Given the description of an element on the screen output the (x, y) to click on. 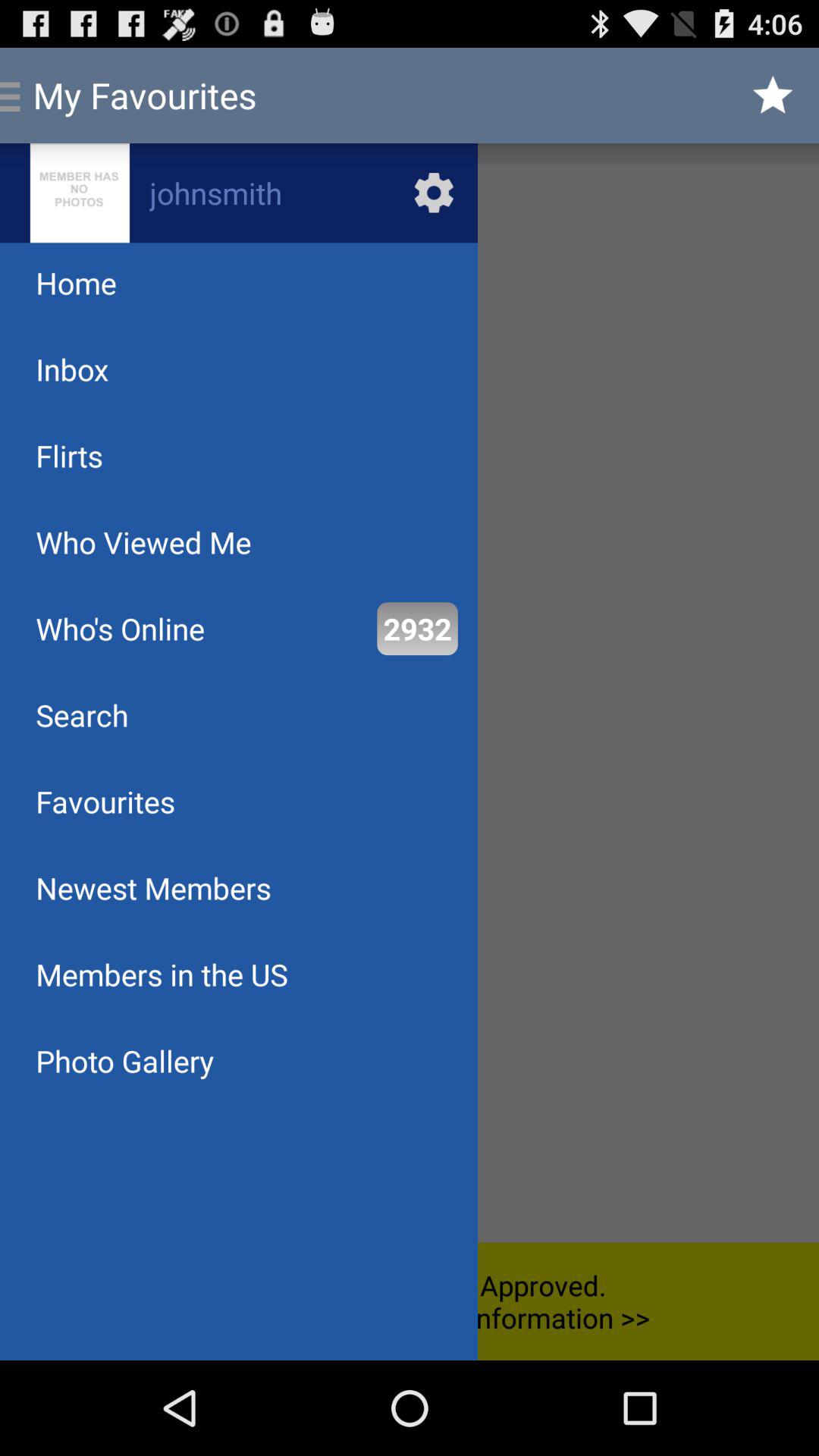
text beside johnsmith (79, 192)
